Given the description of an element on the screen output the (x, y) to click on. 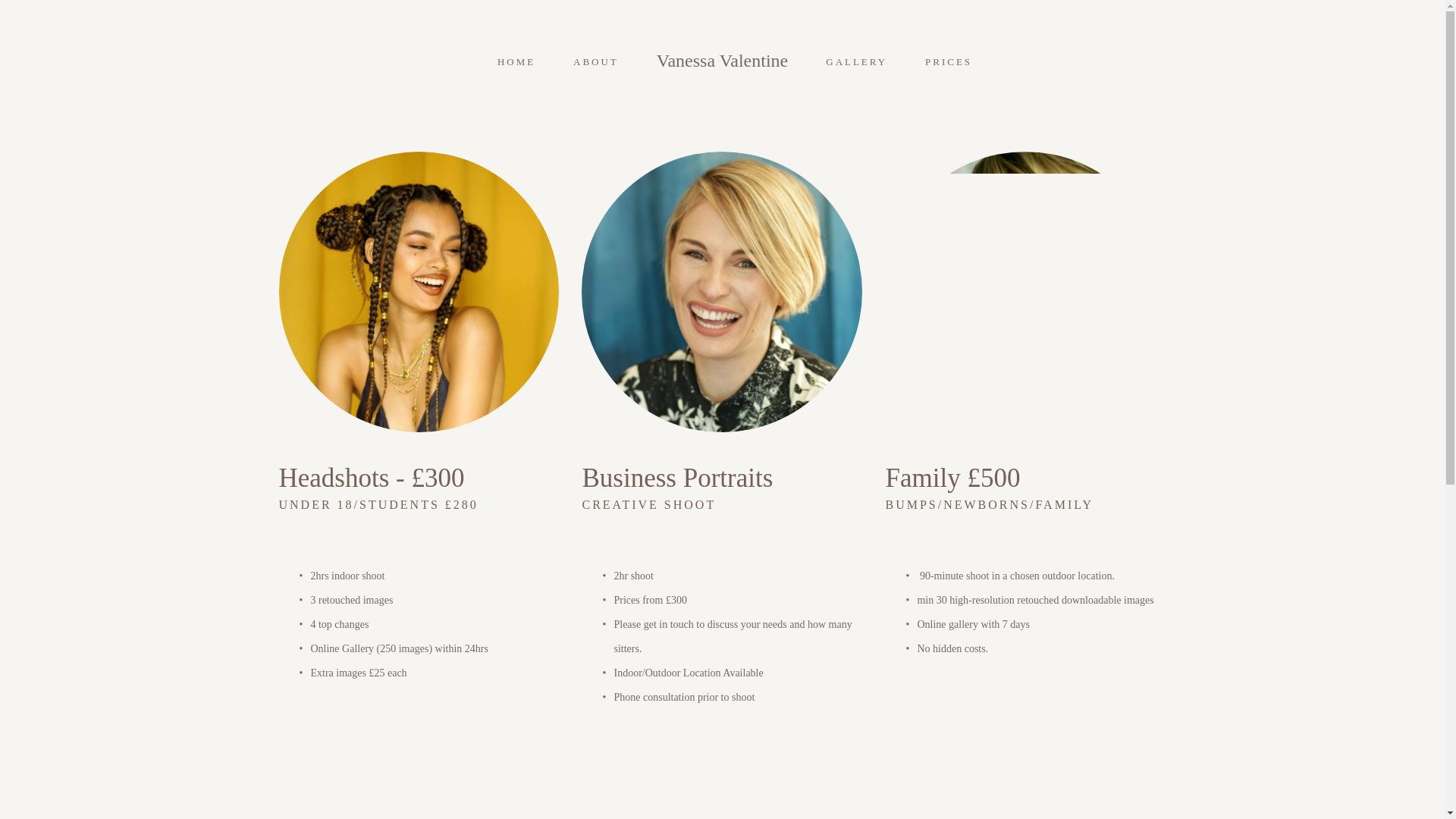
PRICES (948, 61)
ABOUT (595, 61)
HOME (516, 61)
Vanessa Valentine (722, 60)
GALLERY (855, 61)
